Given the description of an element on the screen output the (x, y) to click on. 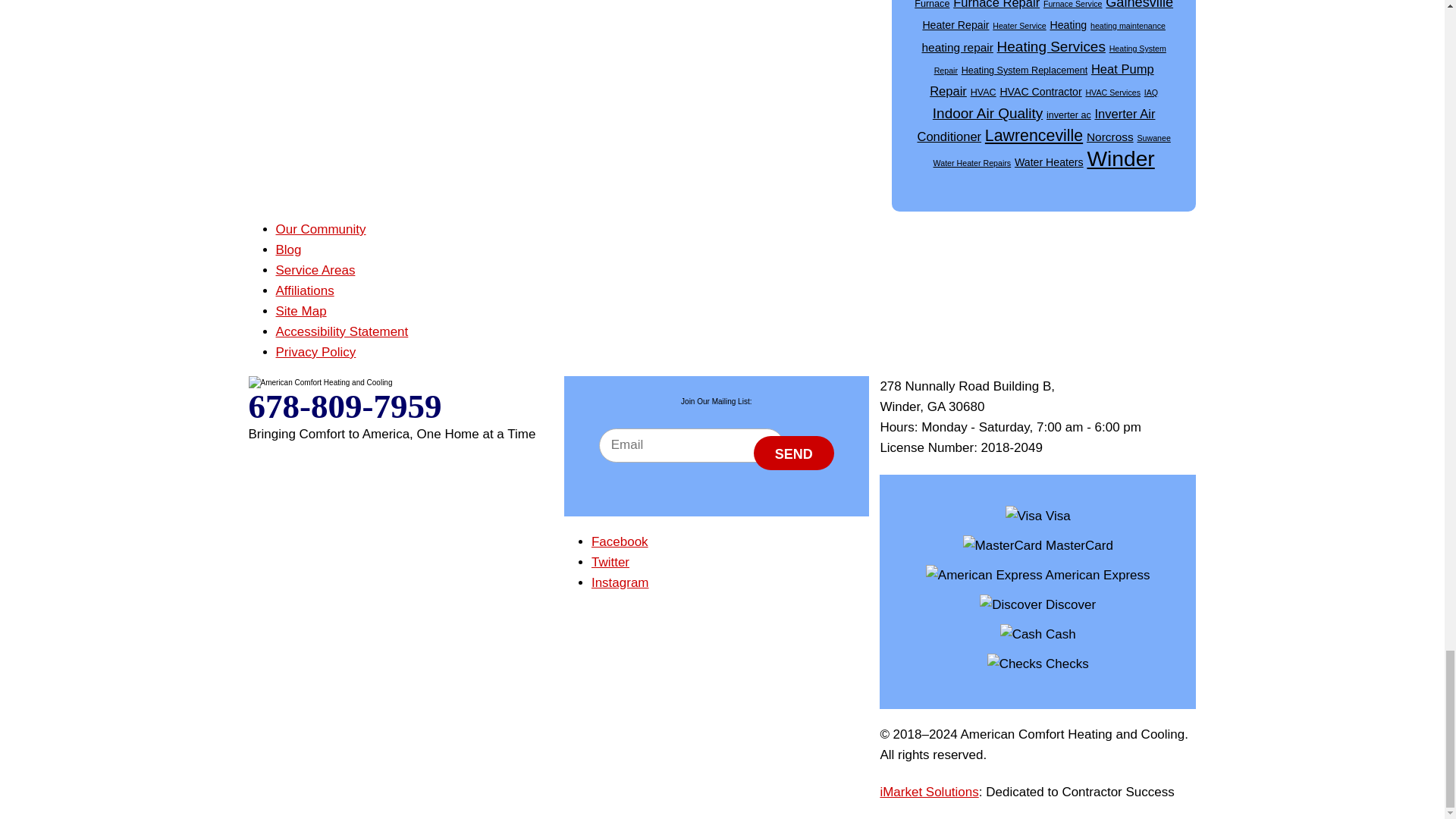
American Comfort Heating and Cooling on Facebook (619, 541)
American Comfort Heating and Cooling on Twitter (609, 562)
American Comfort Heating and Cooling on Instagram (620, 582)
